Given the description of an element on the screen output the (x, y) to click on. 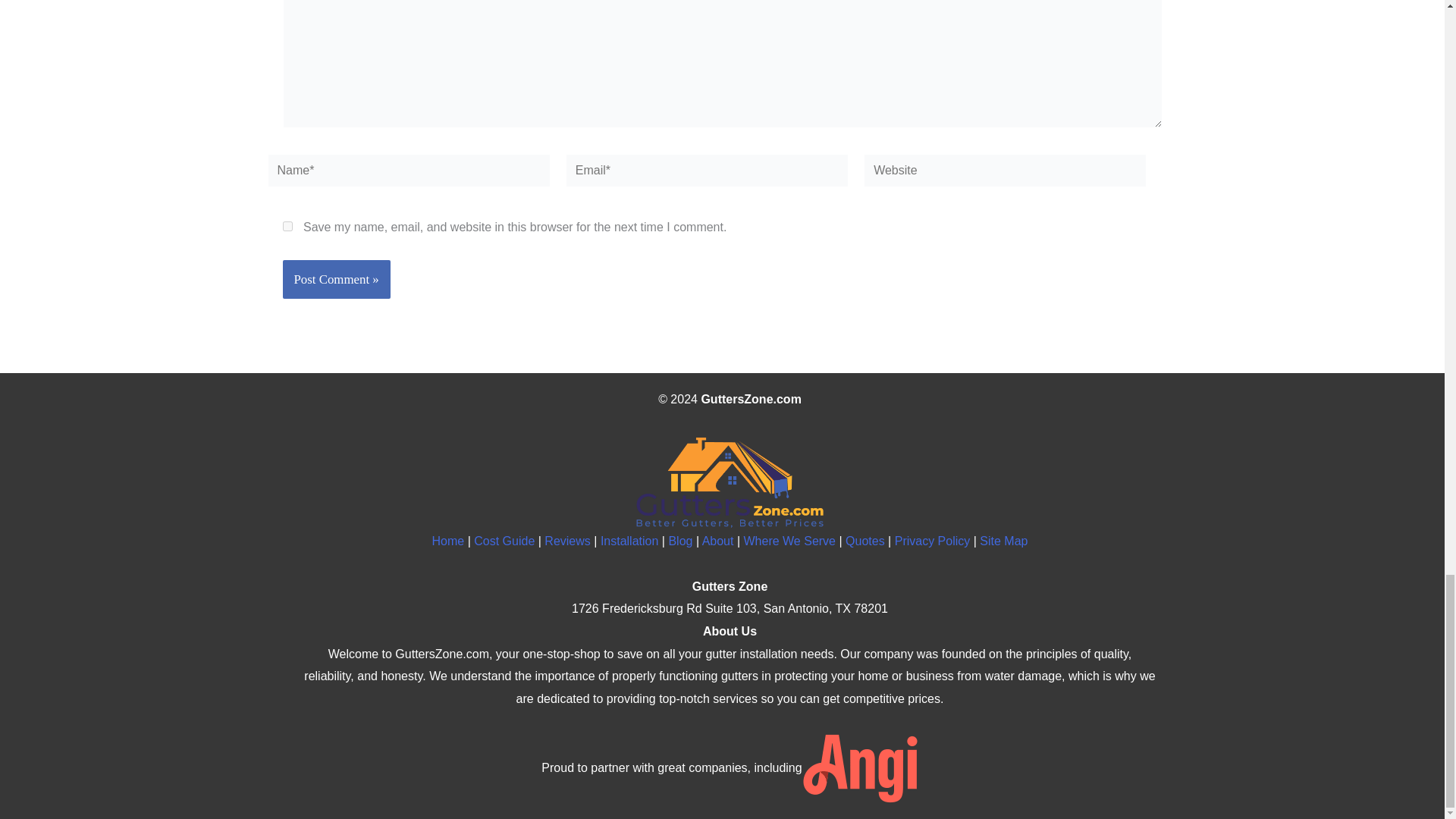
Reviews (566, 540)
Privacy Policy (933, 540)
Gutters Zone (448, 540)
Where We Serve (788, 540)
Gutter Zone (729, 481)
Installation (629, 540)
Site Map (1003, 540)
Blog (680, 540)
Quotes (865, 540)
yes (287, 225)
About (717, 540)
Cost Guide (504, 540)
